Given the description of an element on the screen output the (x, y) to click on. 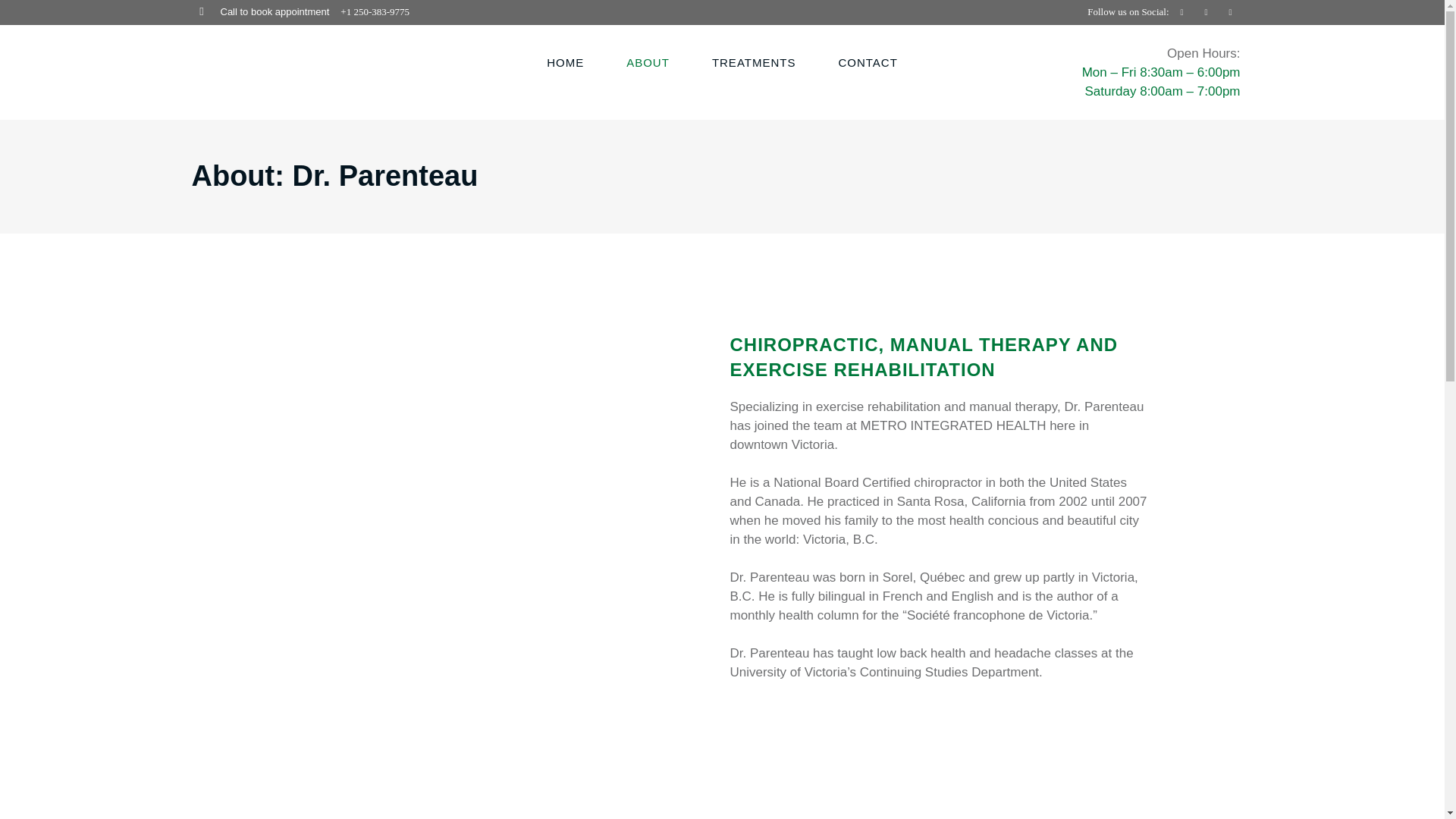
CONTACT (867, 62)
TREATMENTS (753, 62)
HOME (565, 62)
ABOUT (647, 62)
